Given the description of an element on the screen output the (x, y) to click on. 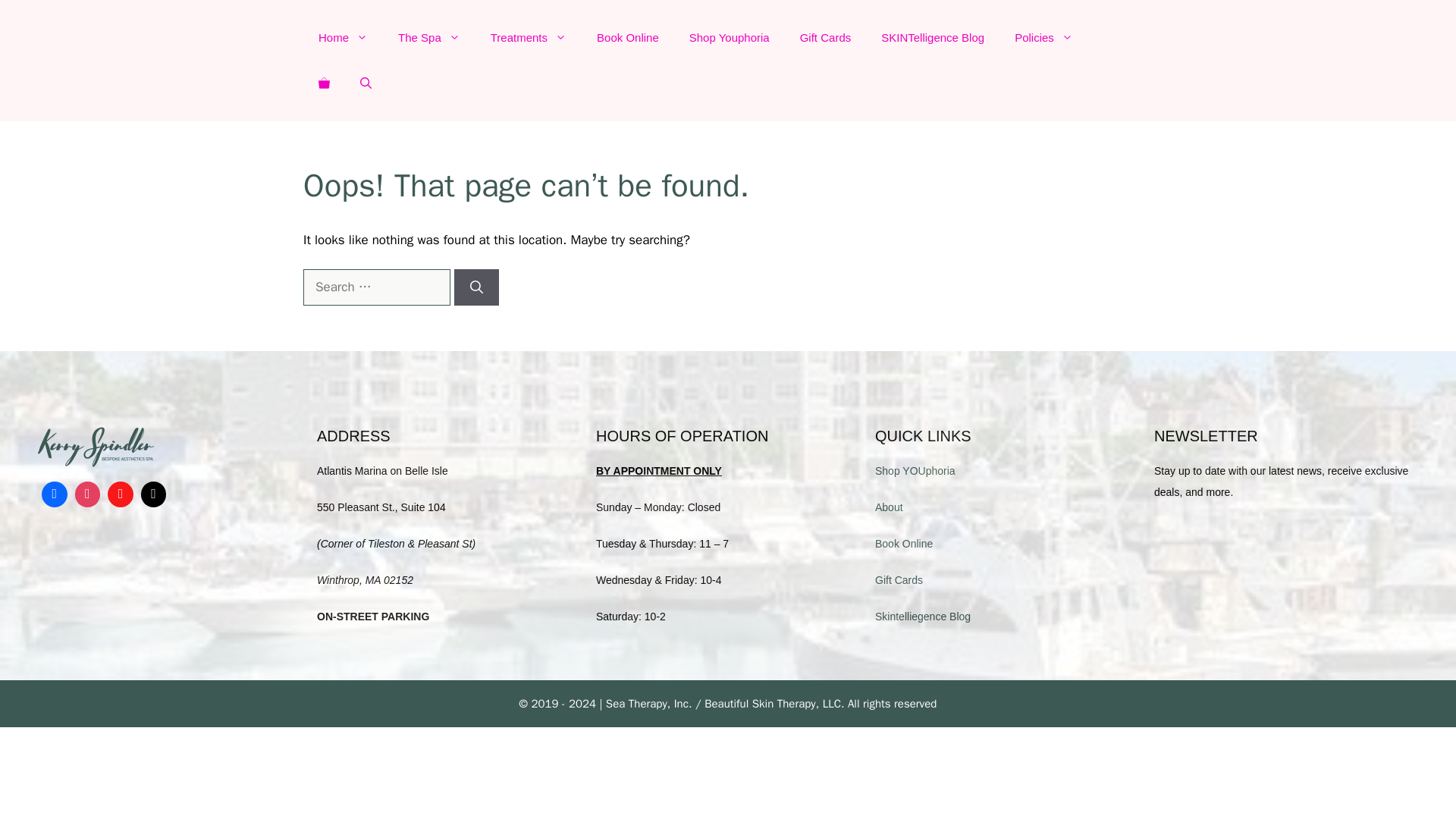
Facebook (54, 494)
Yelp (119, 494)
Shop Youphoria (729, 37)
Policies (1042, 37)
Book Online (627, 37)
Gift Cards (825, 37)
Tiktok (153, 494)
View your shopping cart (323, 83)
The Spa (429, 37)
SKINTelligence Blog (932, 37)
